Given the description of an element on the screen output the (x, y) to click on. 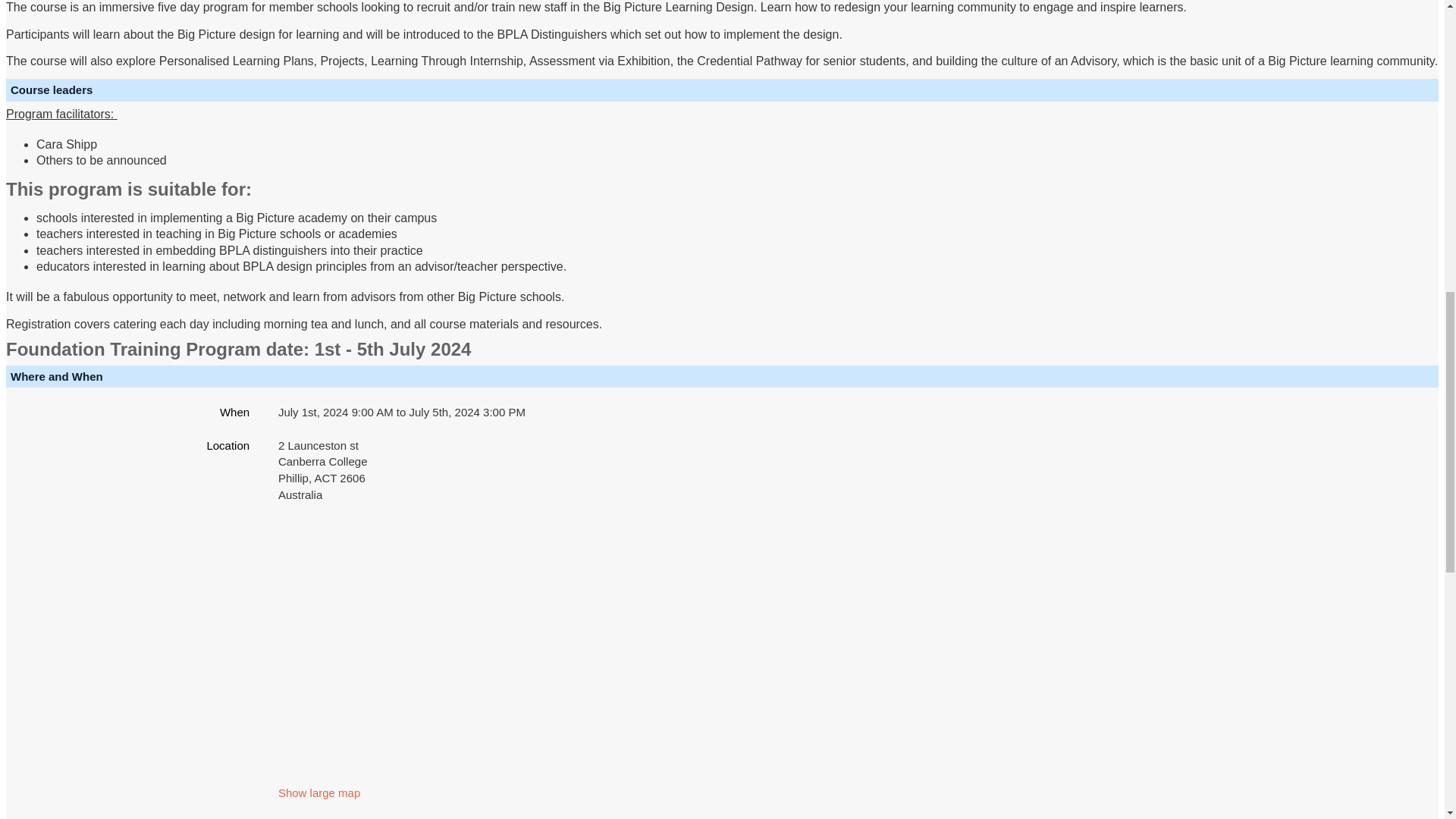
Show large map (318, 792)
